Given the description of an element on the screen output the (x, y) to click on. 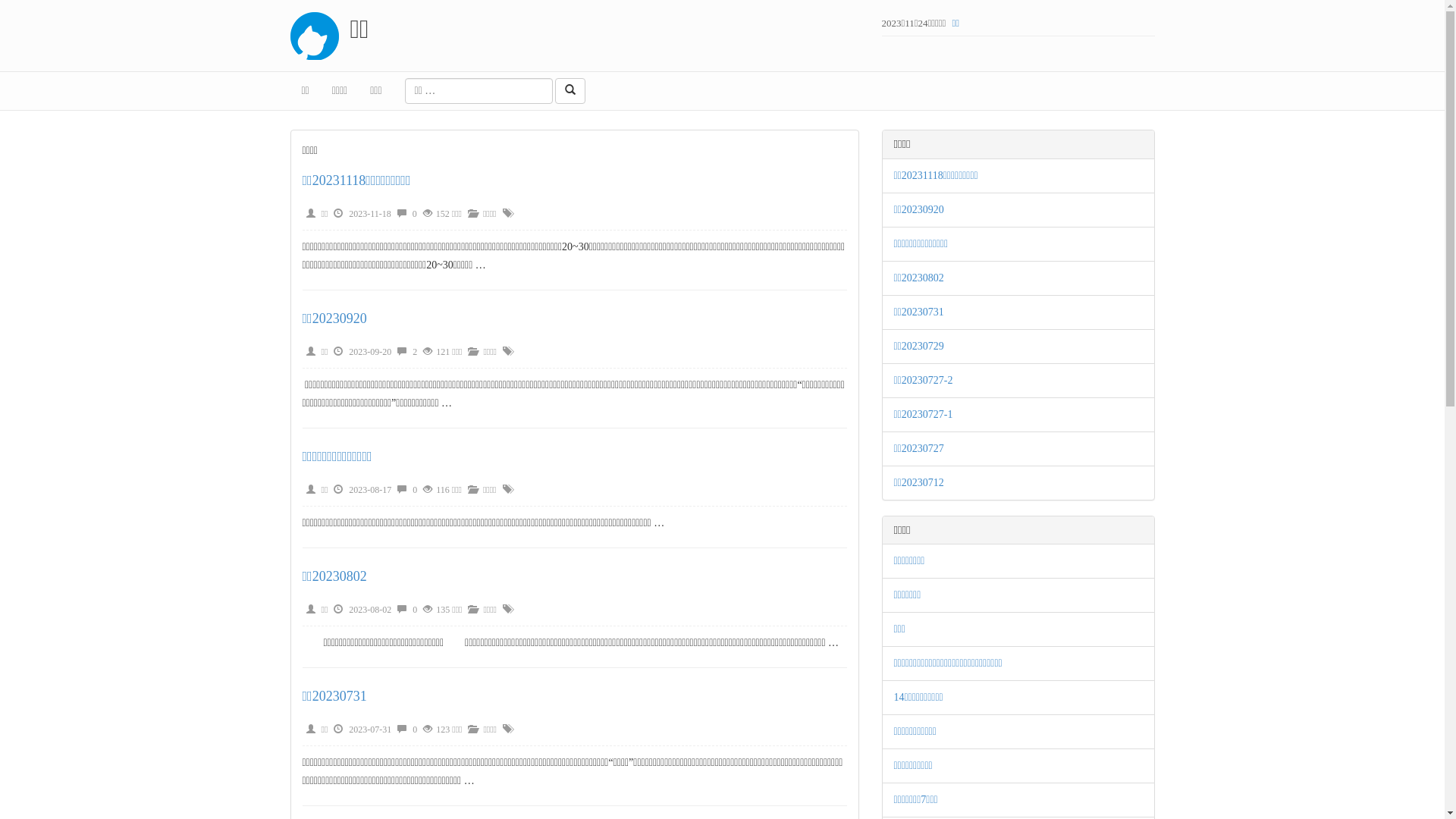
0 Element type: text (414, 729)
0 Element type: text (414, 213)
0 Element type: text (414, 489)
0 Element type: text (414, 609)
2 Element type: text (414, 351)
